Given the description of an element on the screen output the (x, y) to click on. 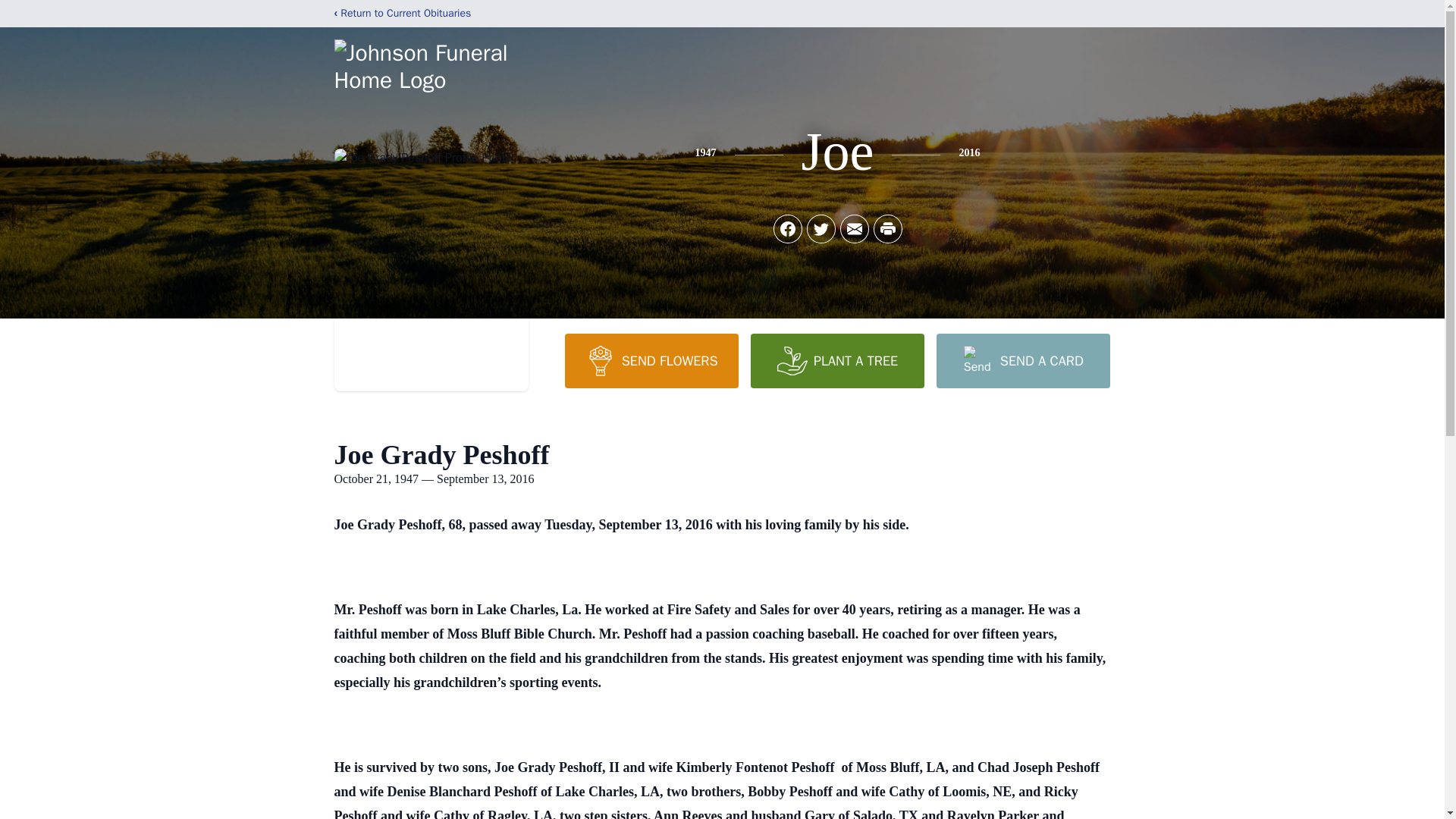
SEND A CARD (1022, 360)
SEND FLOWERS (651, 360)
PLANT A TREE (837, 360)
